Given the description of an element on the screen output the (x, y) to click on. 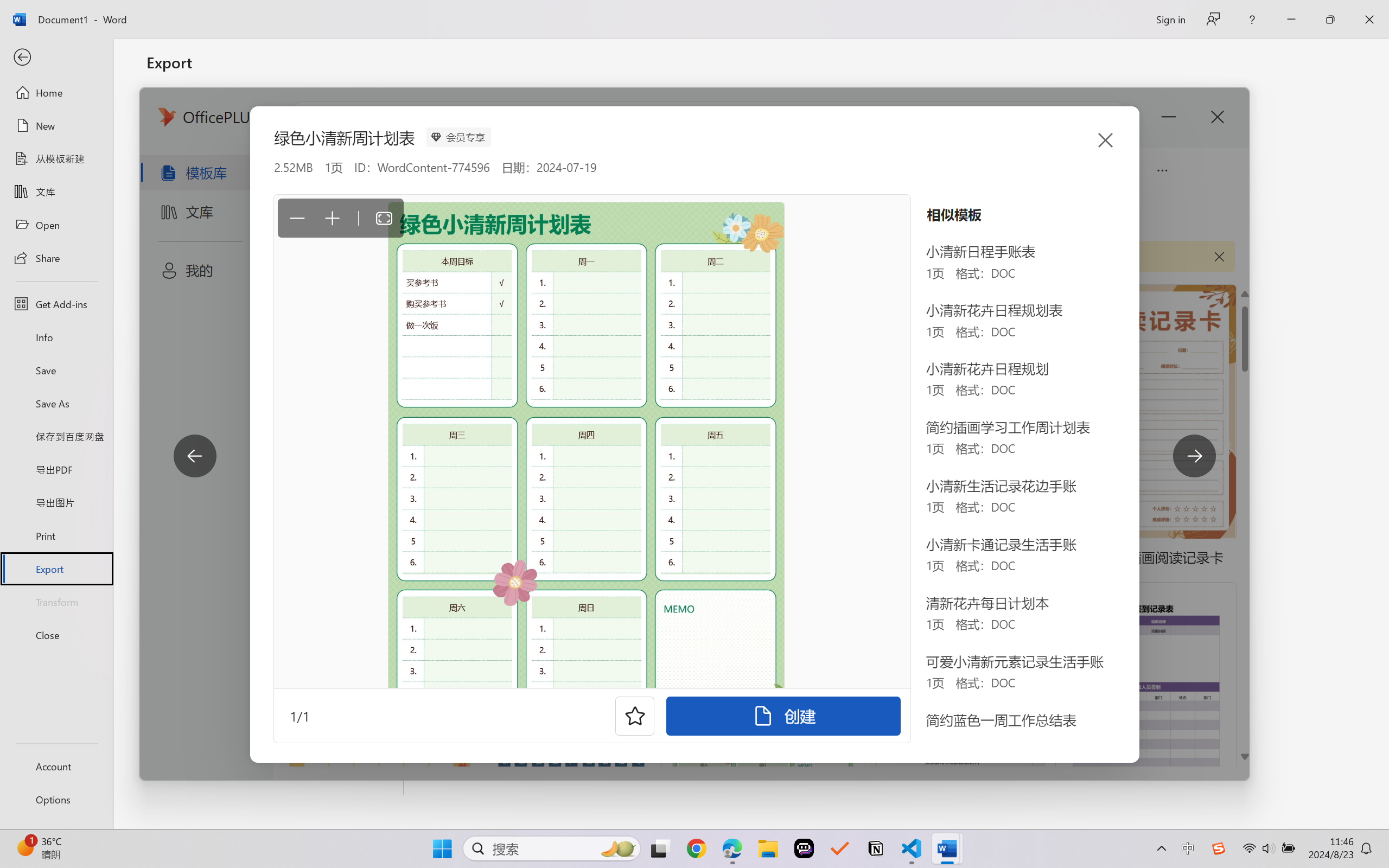
New (56, 125)
Print (56, 535)
Back (56, 57)
Send documents to Kindle (275, 205)
Change File Type (275, 158)
Sign in (1170, 18)
